Given the description of an element on the screen output the (x, y) to click on. 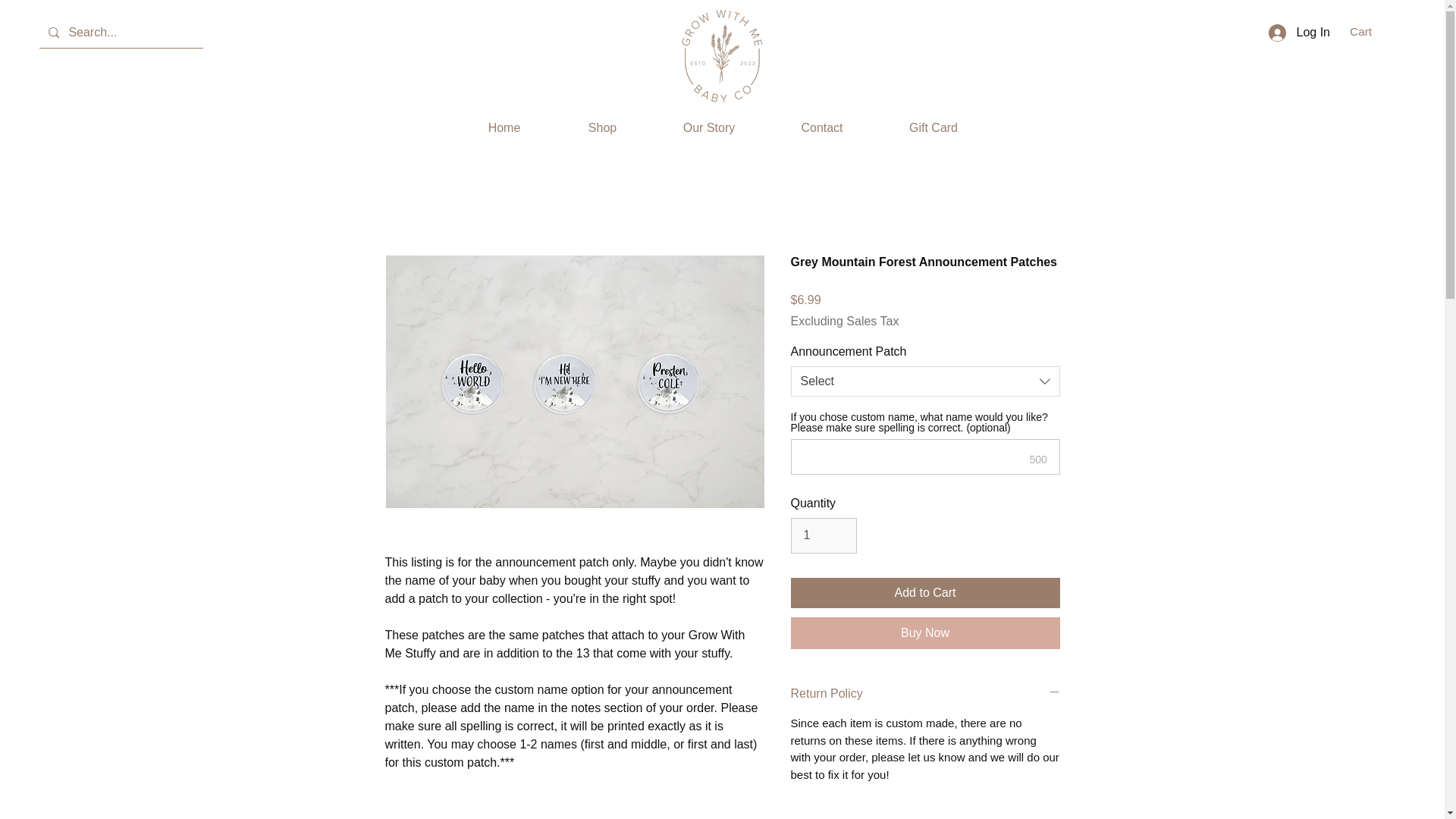
Cart (1370, 31)
Our Story (709, 127)
1 (823, 534)
Buy Now (924, 633)
Return Policy (924, 693)
Gift Card (933, 127)
Add to Cart (924, 593)
Home (503, 127)
Log In (1298, 32)
Cart (1370, 31)
Shop (602, 127)
Select (924, 381)
Contact (821, 127)
